Given the description of an element on the screen output the (x, y) to click on. 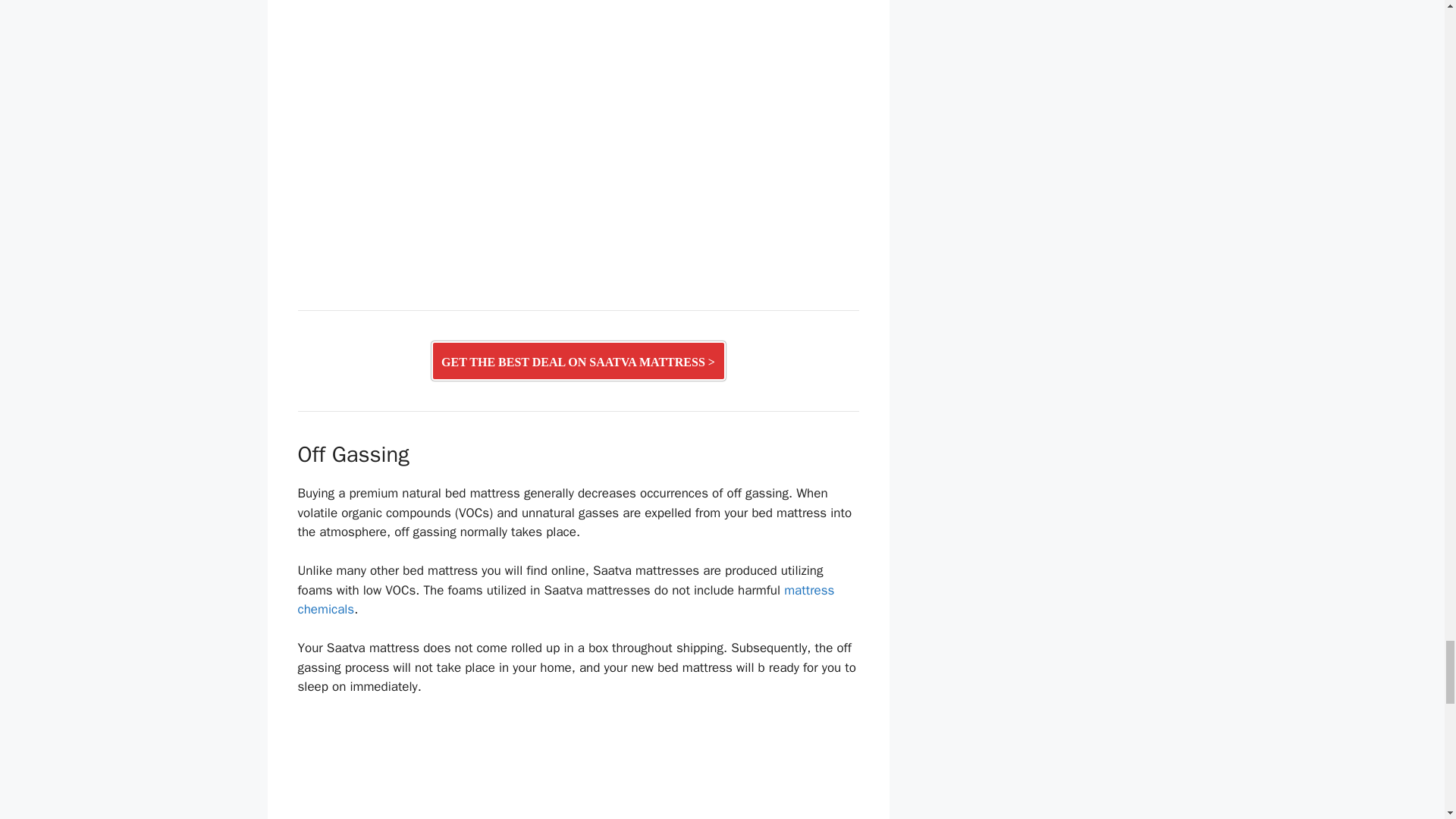
mattress chemicals (565, 600)
